Given the description of an element on the screen output the (x, y) to click on. 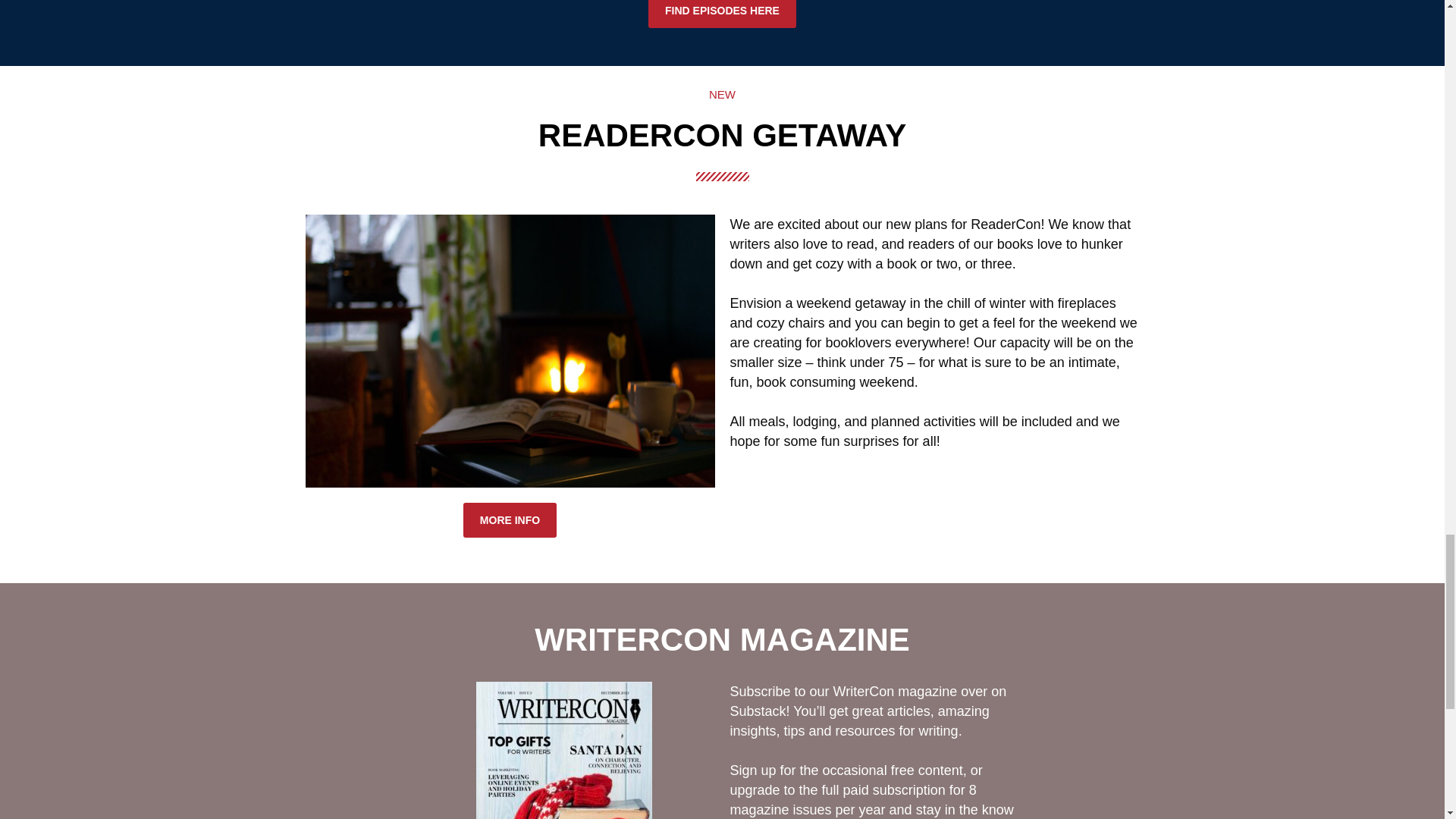
FIND EPISODES HERE (721, 13)
MORE INFO (509, 519)
